Given the description of an element on the screen output the (x, y) to click on. 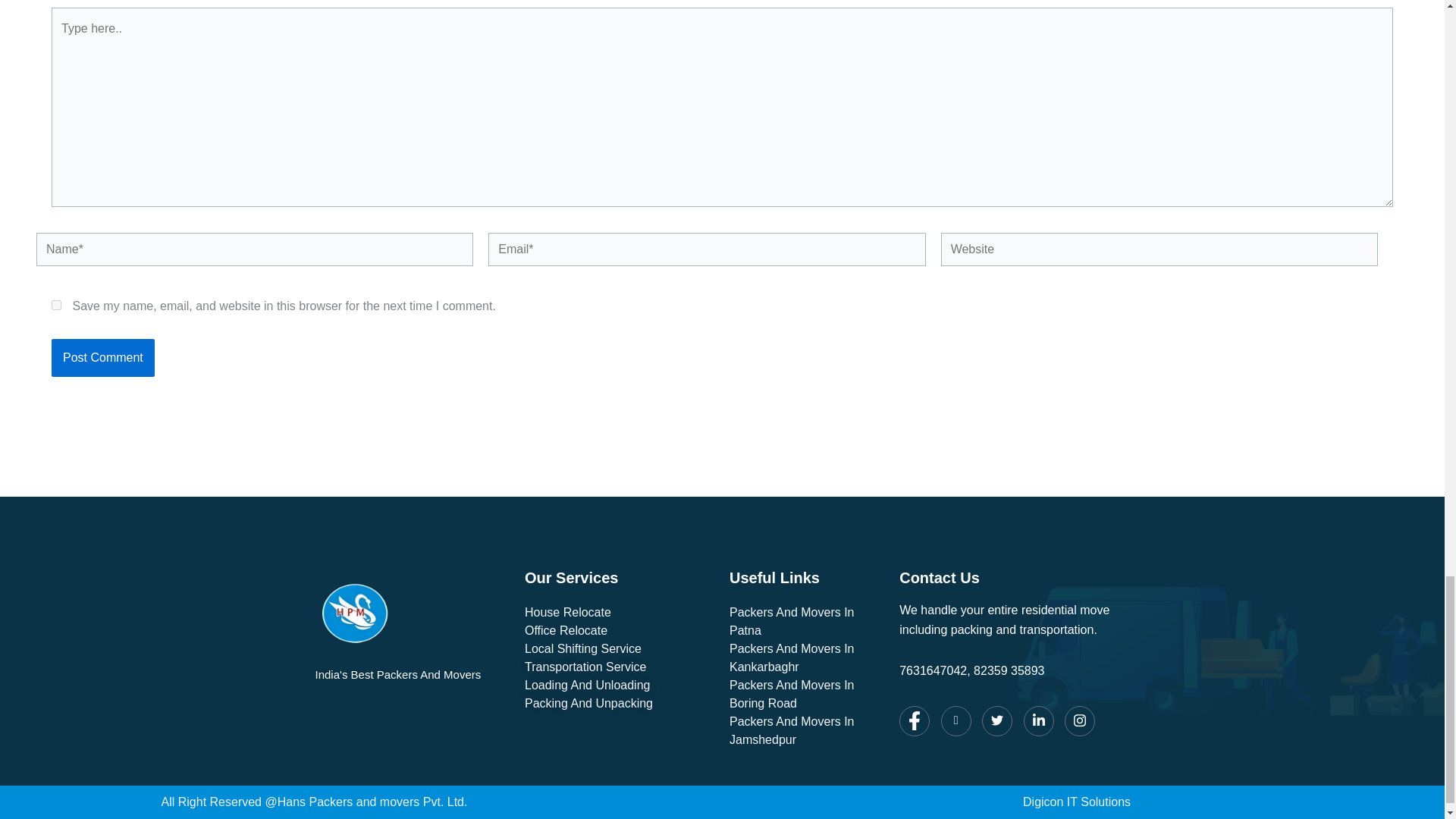
Office Relocate (619, 630)
Packers And Movers In Jamshedpur (806, 730)
Post Comment (102, 357)
yes (55, 305)
Local Shifting Service (619, 648)
Post Comment (102, 357)
Packers And Movers In Kankarbaghr (806, 657)
Packers And Movers In Boring Road (806, 694)
House Relocate (619, 612)
Packers And Movers In Patna (806, 621)
